Given the description of an element on the screen output the (x, y) to click on. 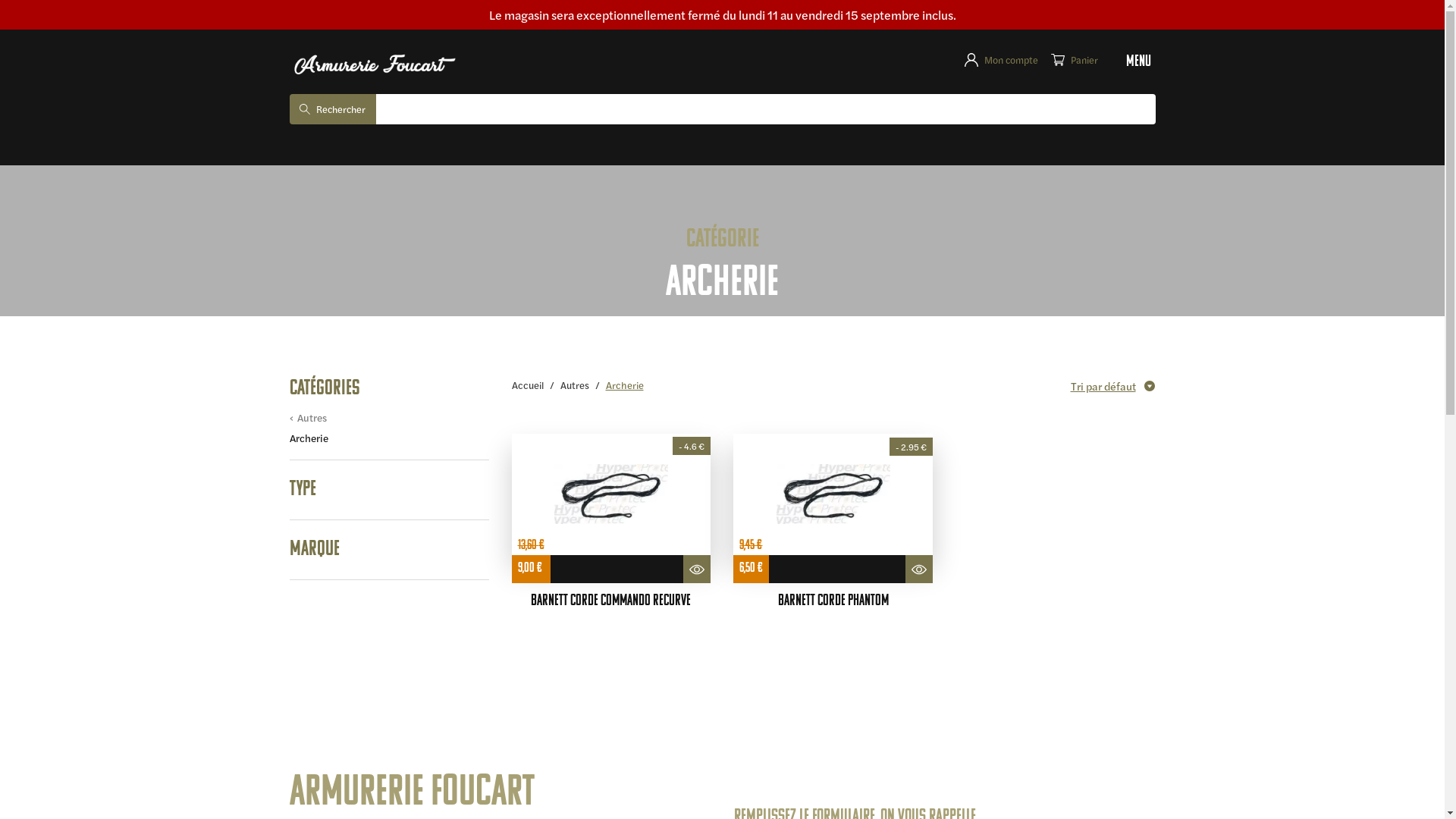
AJOUTER AU PANIER Element type: text (836, 569)
Autres Element type: text (307, 417)
BARNETT Corde Phantom Element type: text (832, 600)
Panier Element type: text (1074, 59)
BARNETT Corde Commando Recurve Element type: text (610, 600)
Mon compte Element type: text (1006, 59)
Autres Element type: text (573, 384)
AJOUTER AU PANIER Element type: text (617, 569)
Accueil Element type: text (526, 384)
